Given the description of an element on the screen output the (x, y) to click on. 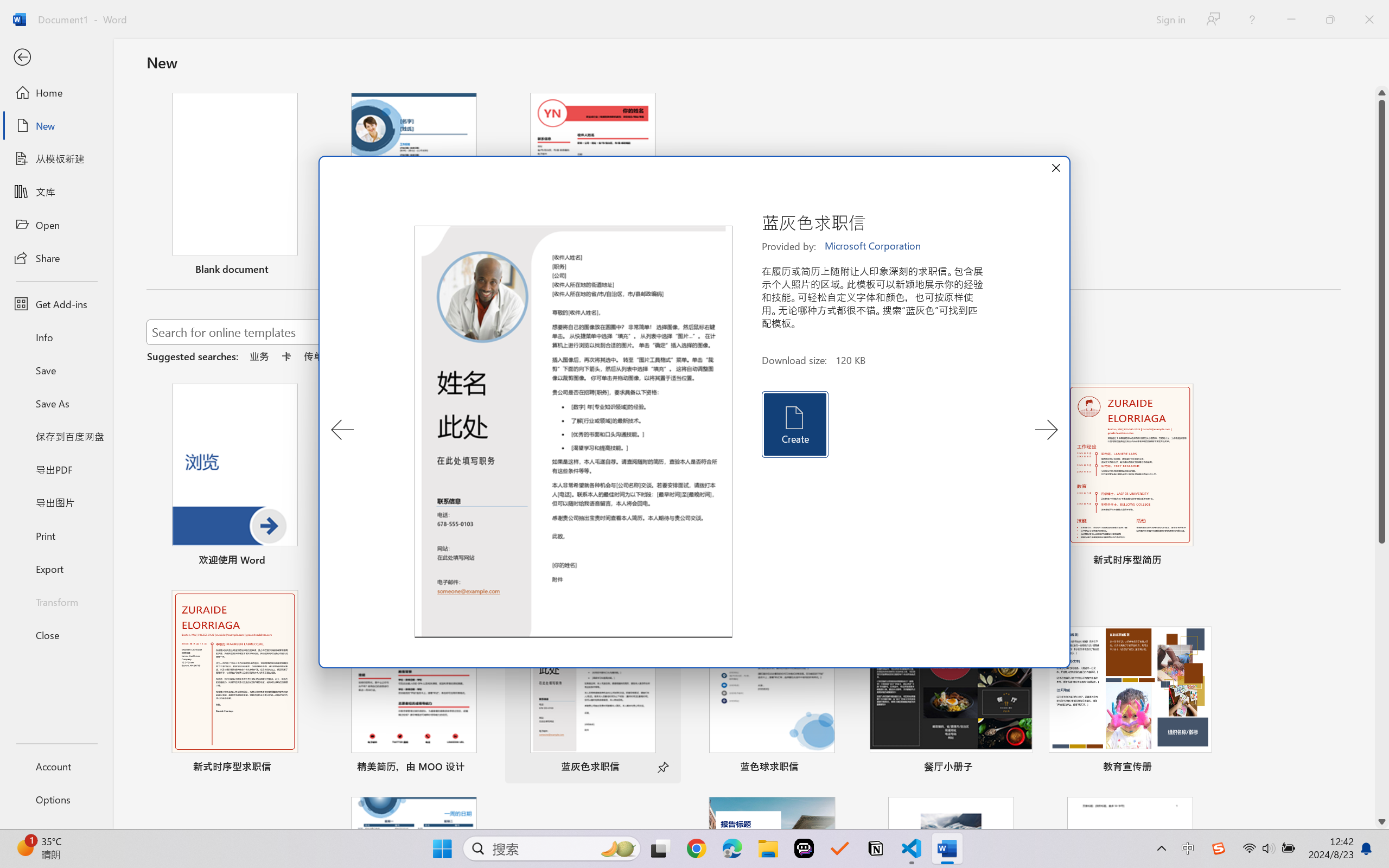
Transform (56, 601)
Options (56, 798)
Next Template (1046, 430)
Microsoft Edge (731, 848)
